Given the description of an element on the screen output the (x, y) to click on. 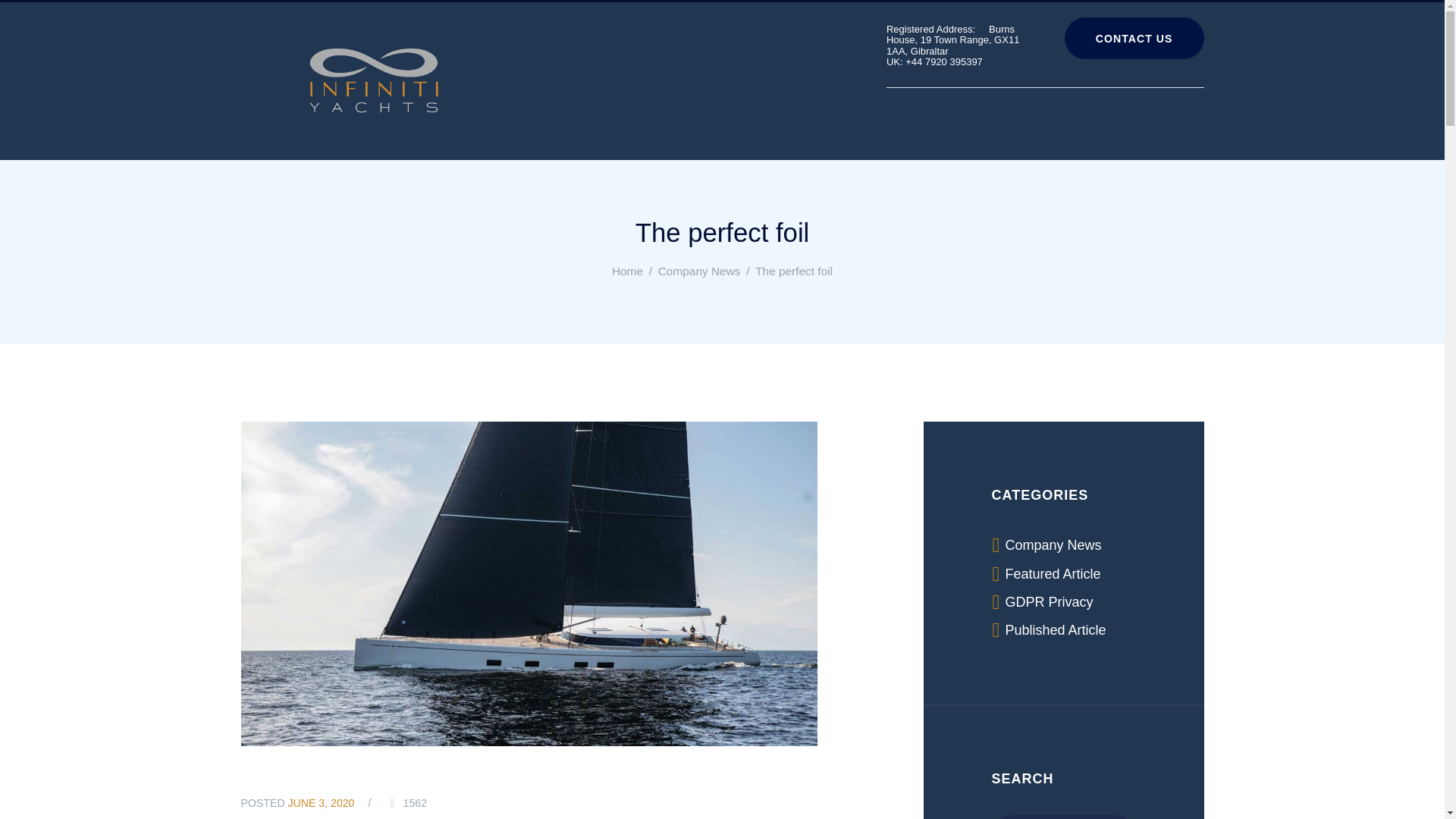
Home (627, 271)
Published Article (1056, 630)
Views - 1562 (405, 803)
Featured Article (1053, 572)
GDPR Privacy (1049, 601)
Company News (699, 271)
JUNE 3, 2020 (321, 802)
Search for: (1063, 816)
CONTACT US (1134, 37)
Company News (1054, 544)
